Given the description of an element on the screen output the (x, y) to click on. 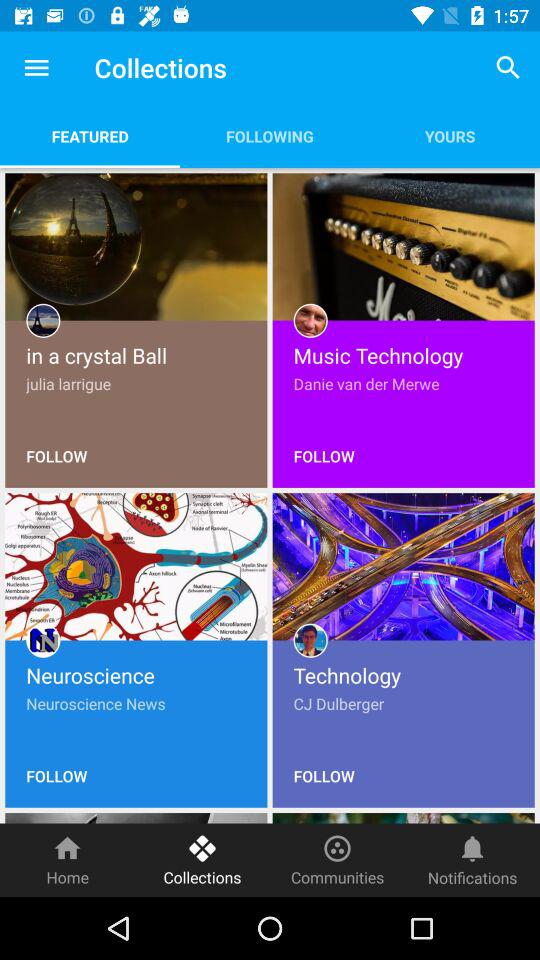
open the item below the follow (67, 859)
